Given the description of an element on the screen output the (x, y) to click on. 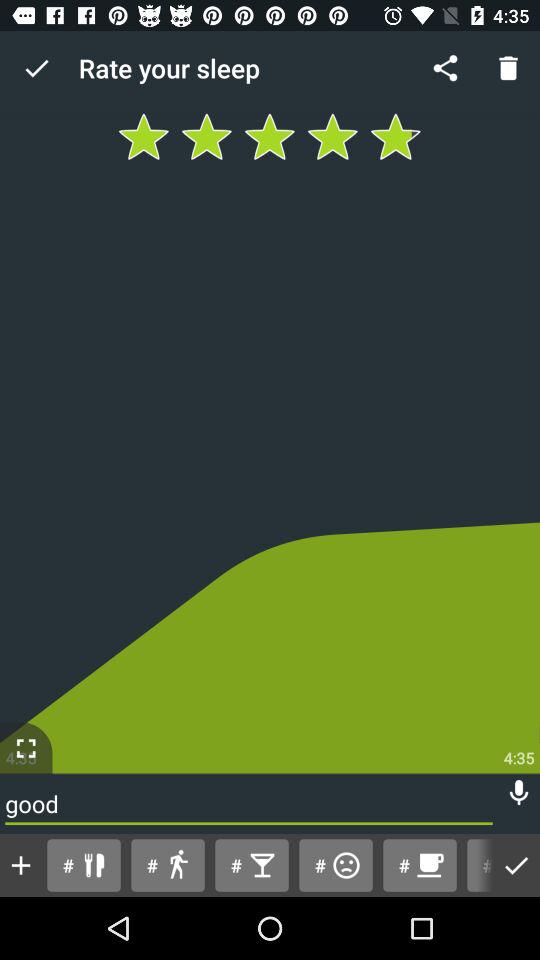
done (516, 865)
